Given the description of an element on the screen output the (x, y) to click on. 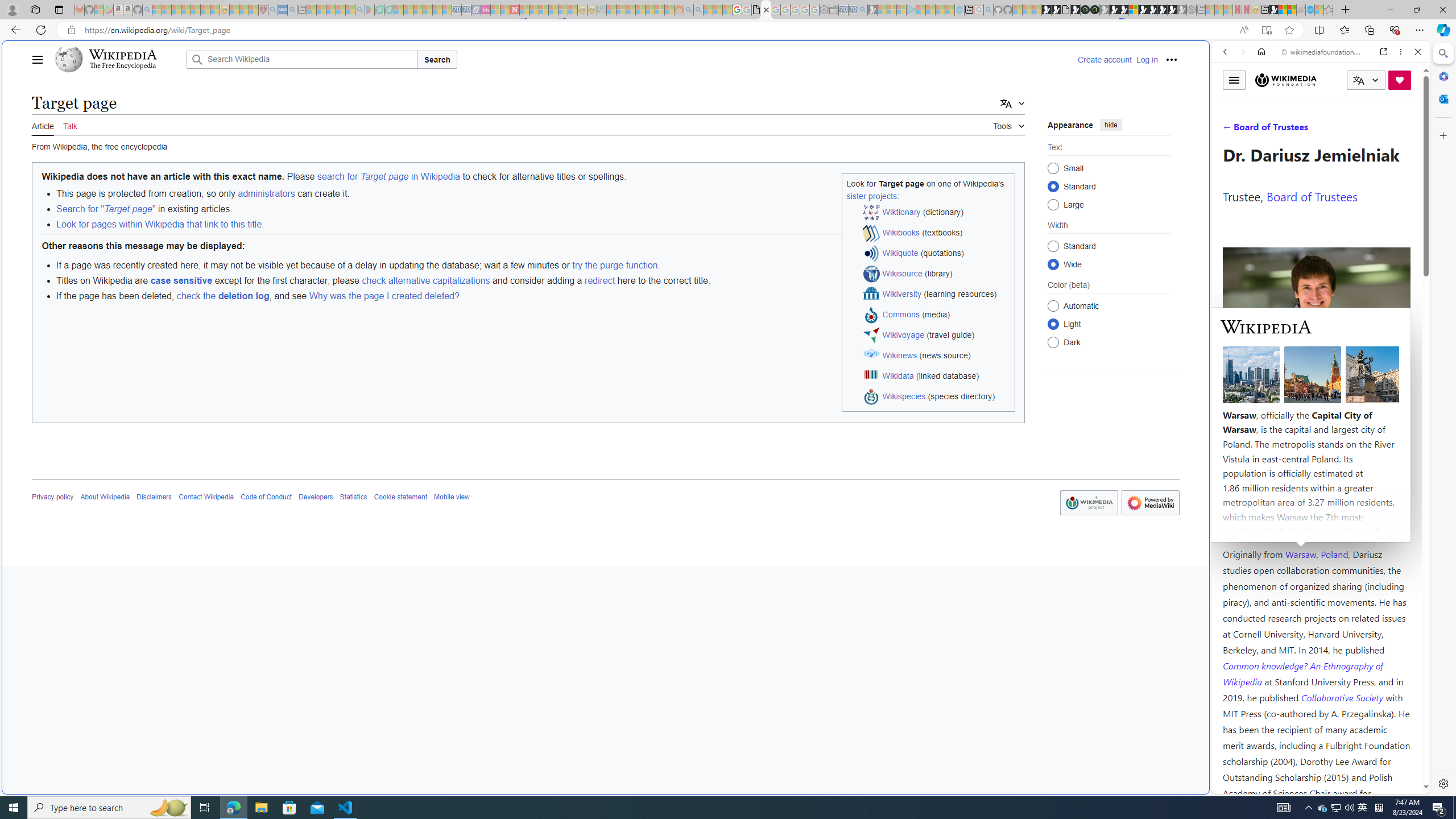
google_privacy_policy_zh-CN.pdf (1118, 683)
Wikidata (linked database) (936, 376)
Automatic (1053, 305)
Pets - MSN - Sleeping (340, 9)
Disclaimers (153, 497)
Profile on Meta-Wiki (1273, 405)
Commons (media) (936, 314)
Search Filter, IMAGES (1262, 129)
MSN (1272, 9)
Collaborative Society  (1343, 697)
